Given the description of an element on the screen output the (x, y) to click on. 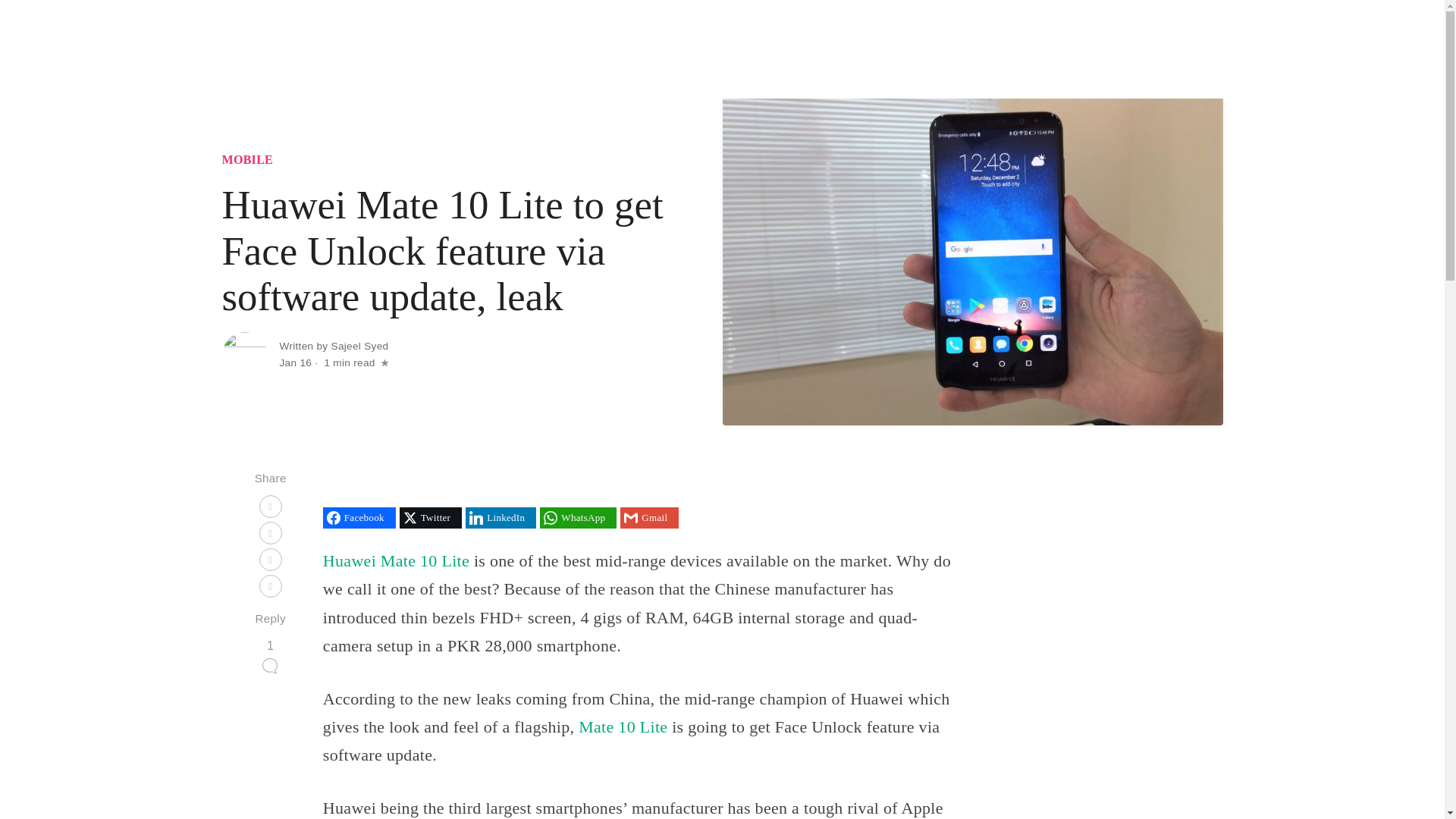
Share on WhatsApp (577, 517)
LinkedIn (500, 517)
Share on Facebook (359, 517)
Technology (849, 49)
Startups (914, 49)
Investment (1037, 49)
Share on Gmail (649, 517)
Facebook (359, 517)
Twitter (429, 517)
MOBILE (247, 159)
Share on LinkedIn (500, 517)
Writers (1192, 49)
Online Earning (1116, 49)
Share on Twitter (429, 517)
Written by Sajeel Syed (333, 346)
